Given the description of an element on the screen output the (x, y) to click on. 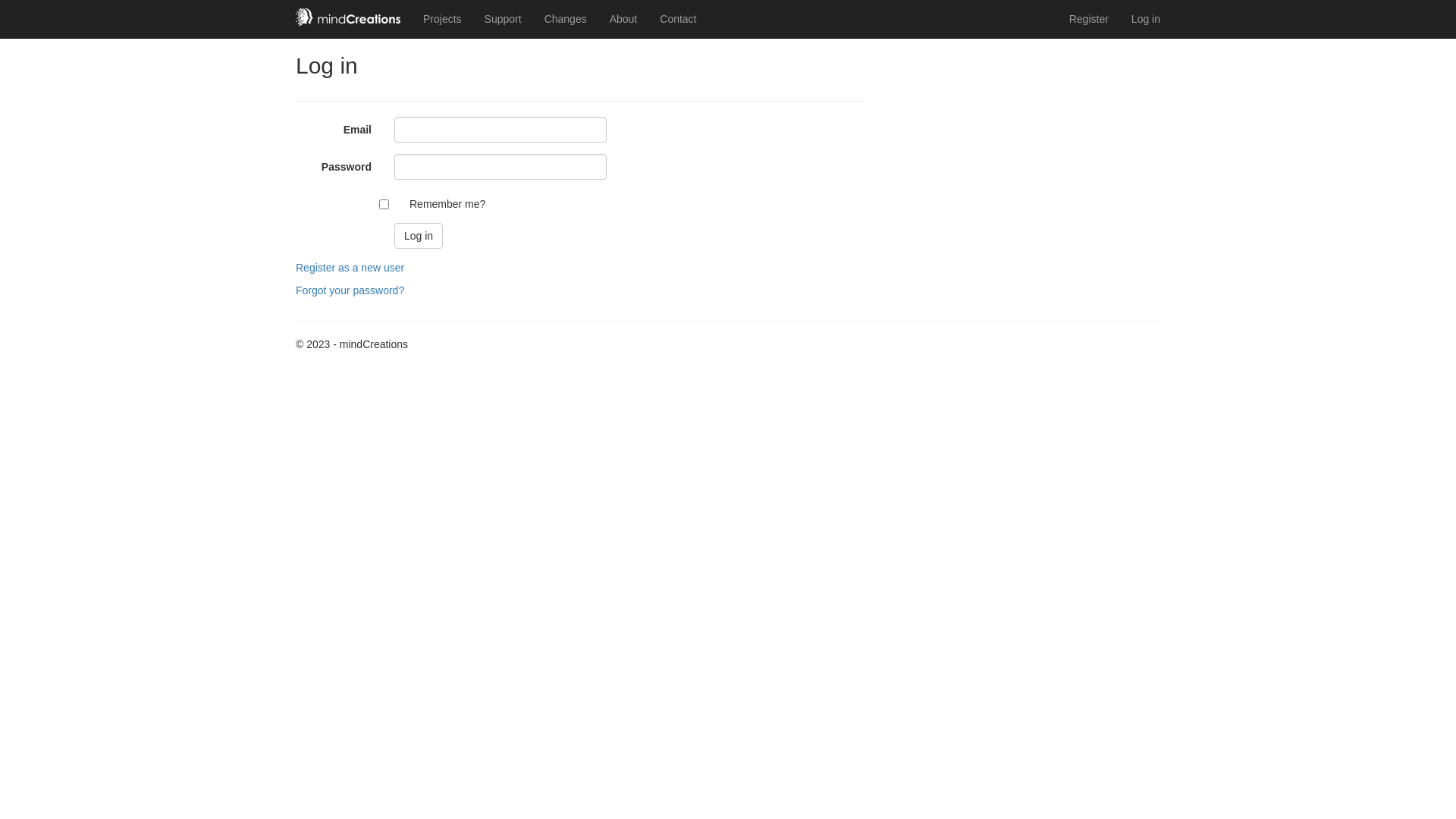
Log in Element type: text (418, 235)
Register Element type: text (1088, 18)
Log in Element type: text (1145, 18)
Support Element type: text (503, 18)
Forgot your password? Element type: text (349, 290)
Contact Element type: text (677, 18)
Changes Element type: text (565, 18)
Register as a new user Element type: text (349, 267)
About Element type: text (623, 18)
Projects Element type: text (442, 18)
